Given the description of an element on the screen output the (x, y) to click on. 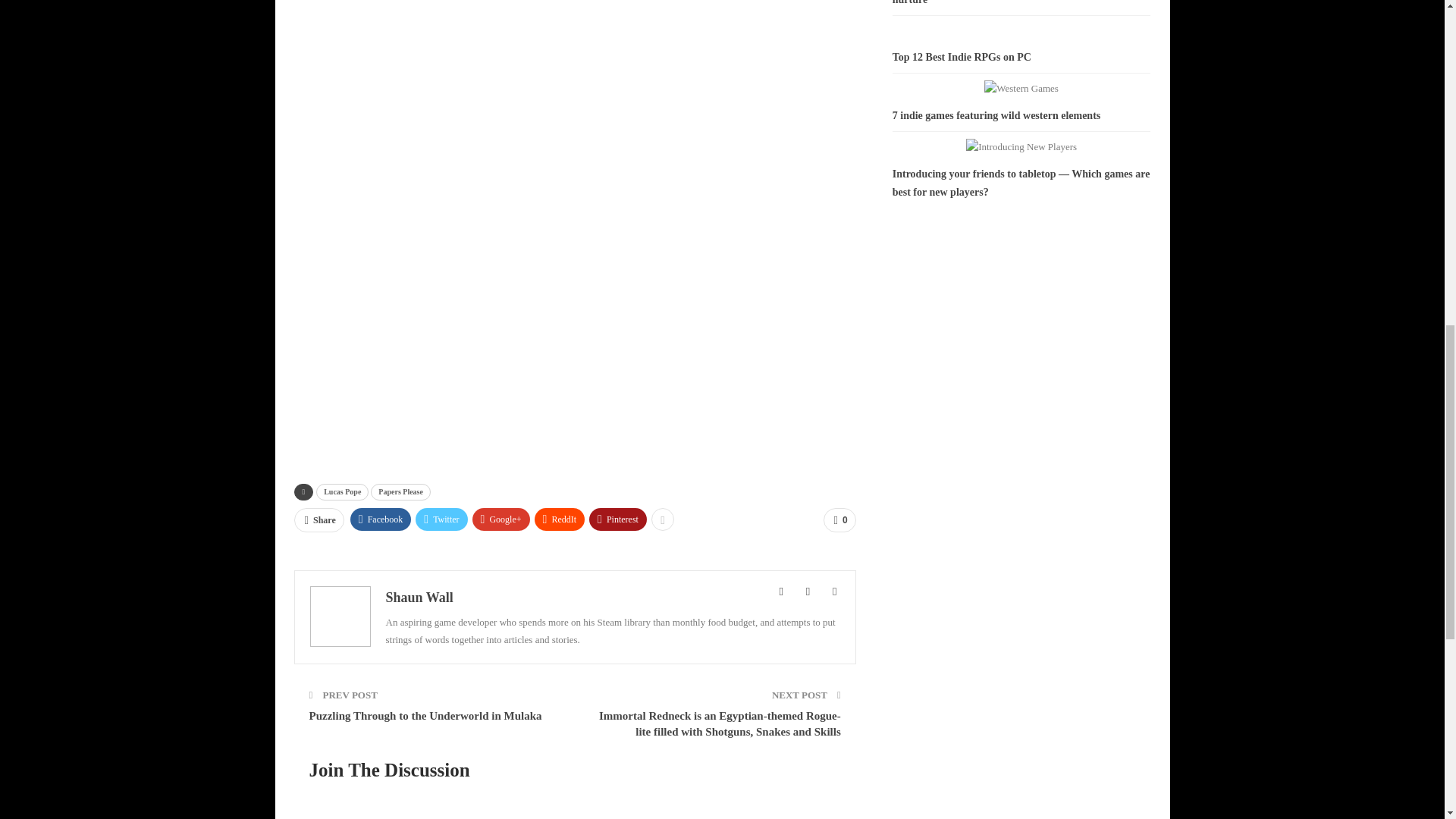
Comment Form (575, 797)
